Given the description of an element on the screen output the (x, y) to click on. 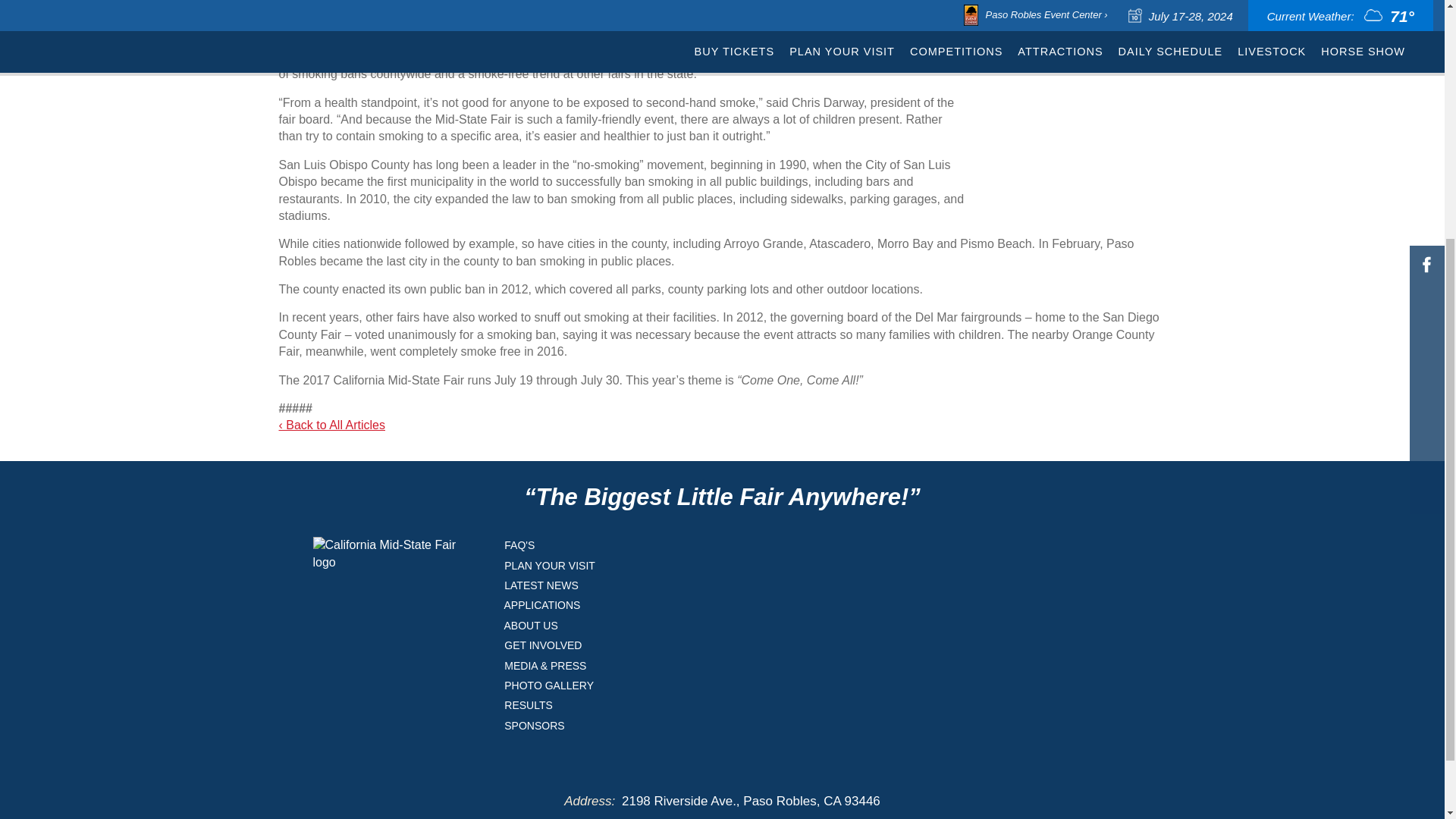
Pinterest (1426, 79)
Snapchat (1426, 136)
LinkedIn (1426, 50)
Spotify (1426, 22)
TikTok (1426, 2)
Pinterest (1426, 79)
Snapchat (1426, 136)
Spotify (1426, 22)
LinkedIn (1426, 50)
YouTube (1426, 108)
TikTok (1426, 2)
YouTube (1426, 108)
